Given the description of an element on the screen output the (x, y) to click on. 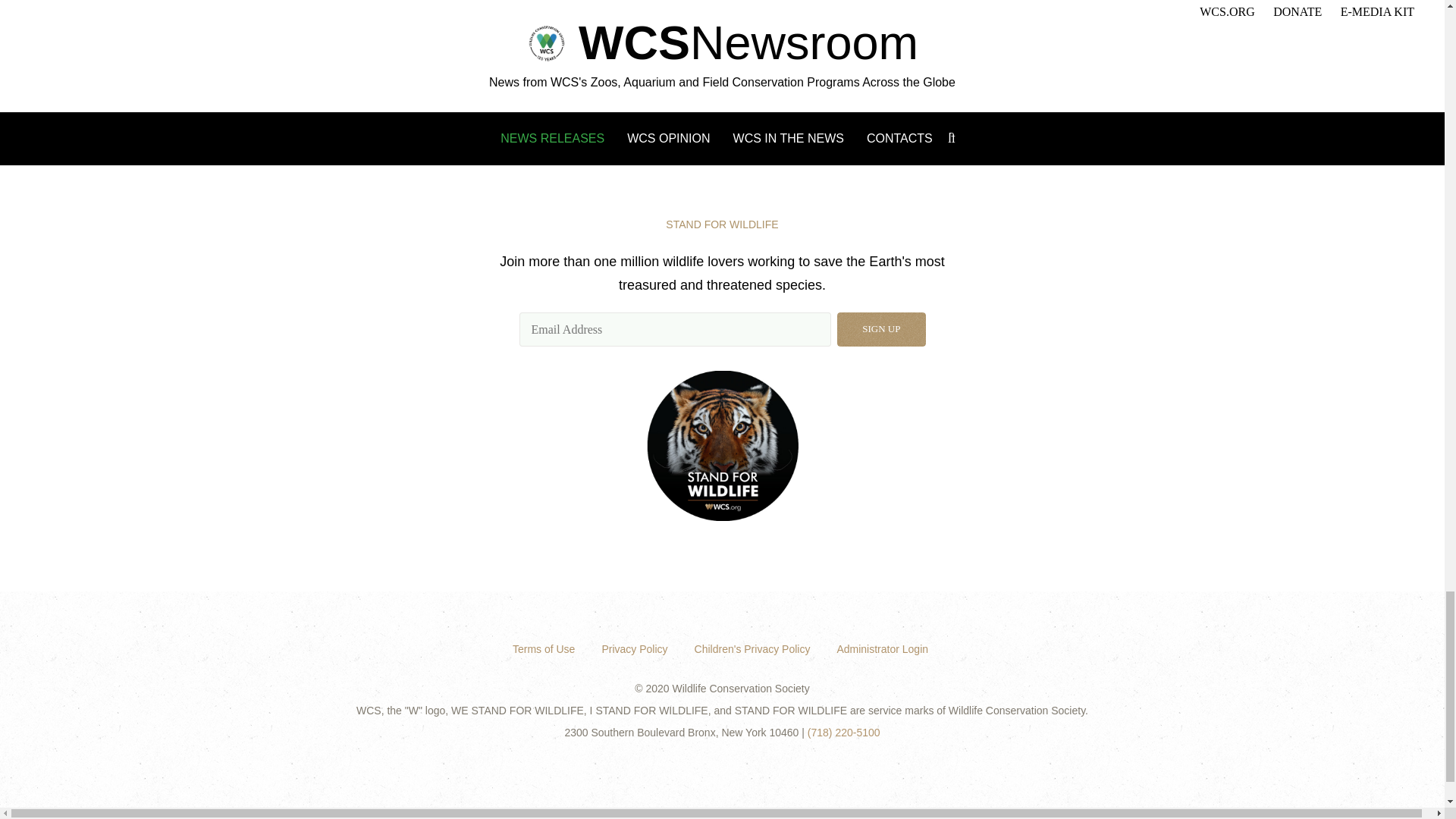
Listen to the WCS Wild Audio podcast HERE (597, 114)
newsroom.wcs.org (346, 102)
